Given the description of an element on the screen output the (x, y) to click on. 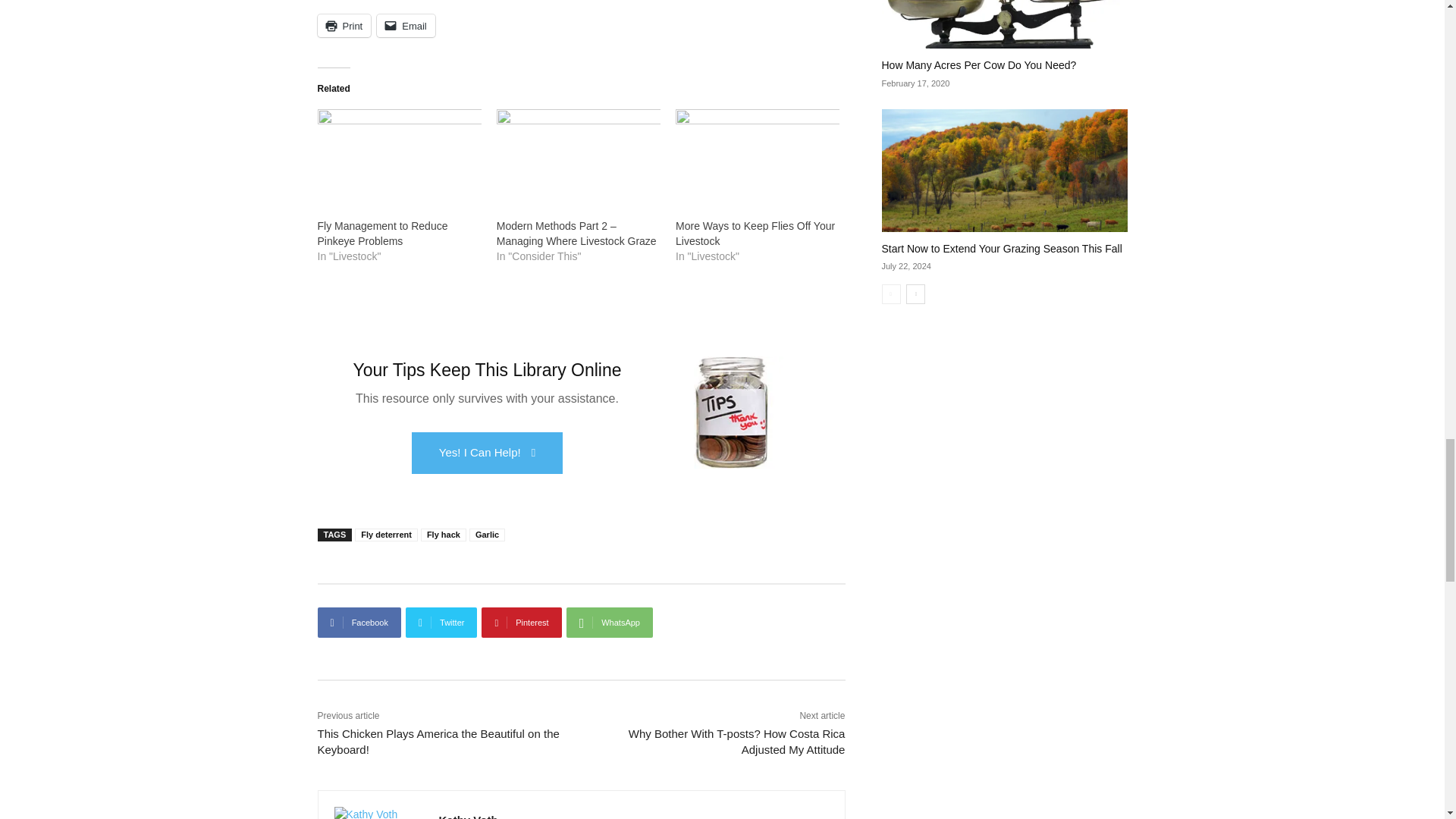
Click to print (344, 25)
Click to email a link to a friend (406, 25)
Fly Management to Reduce Pinkeye Problems (381, 233)
Fly Management to Reduce Pinkeye Problems (398, 155)
